Given the description of an element on the screen output the (x, y) to click on. 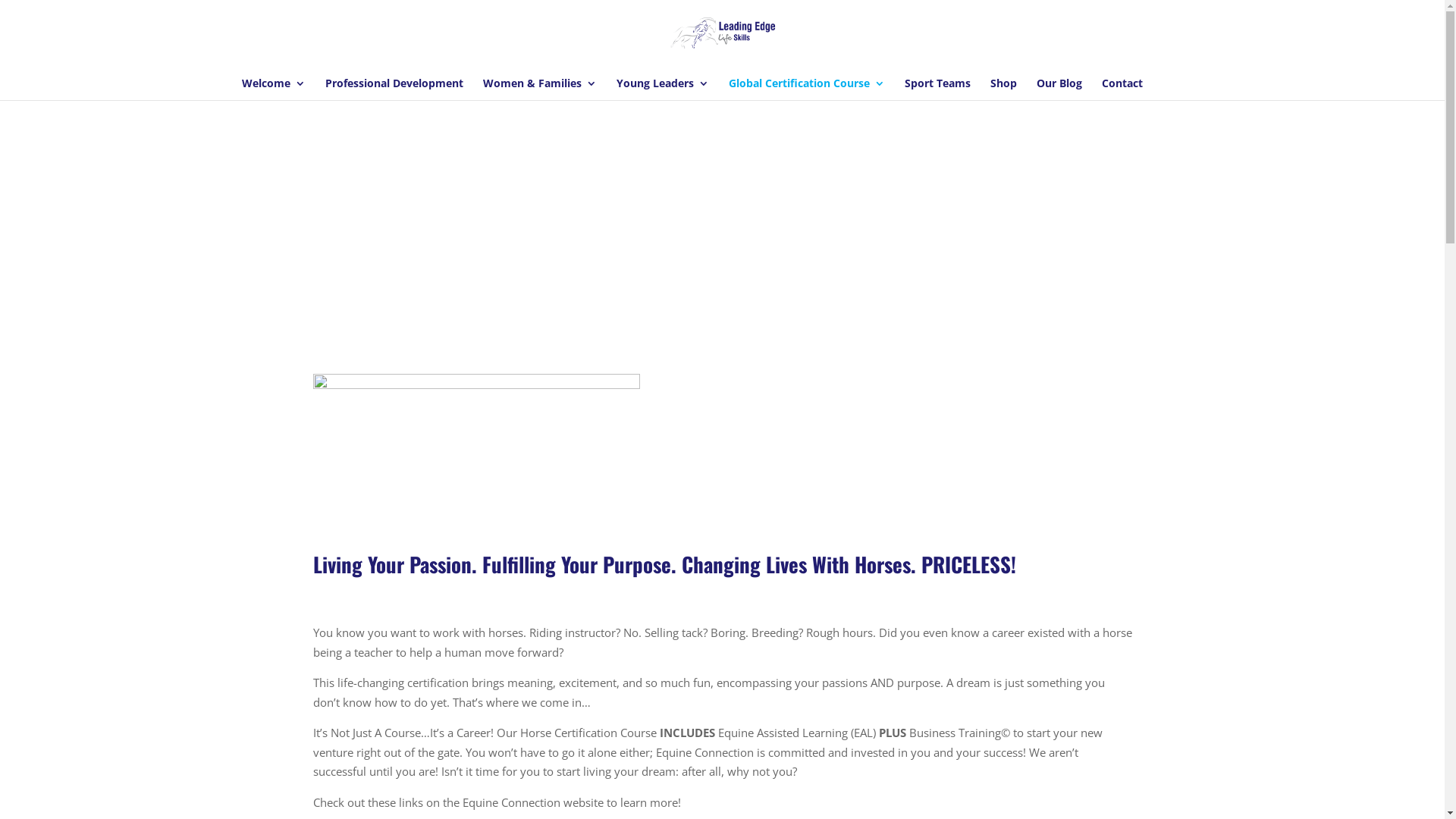
Sport Teams Element type: text (936, 89)
EC Logo Element type: hover (475, 443)
Young Leaders Element type: text (661, 89)
Shop Element type: text (1003, 89)
Contact Element type: text (1121, 89)
Global Certification Course Element type: text (806, 89)
Welcome Element type: text (272, 89)
Our Blog Element type: text (1058, 89)
Professional Development Element type: text (393, 89)
Women & Families Element type: text (539, 89)
